Given the description of an element on the screen output the (x, y) to click on. 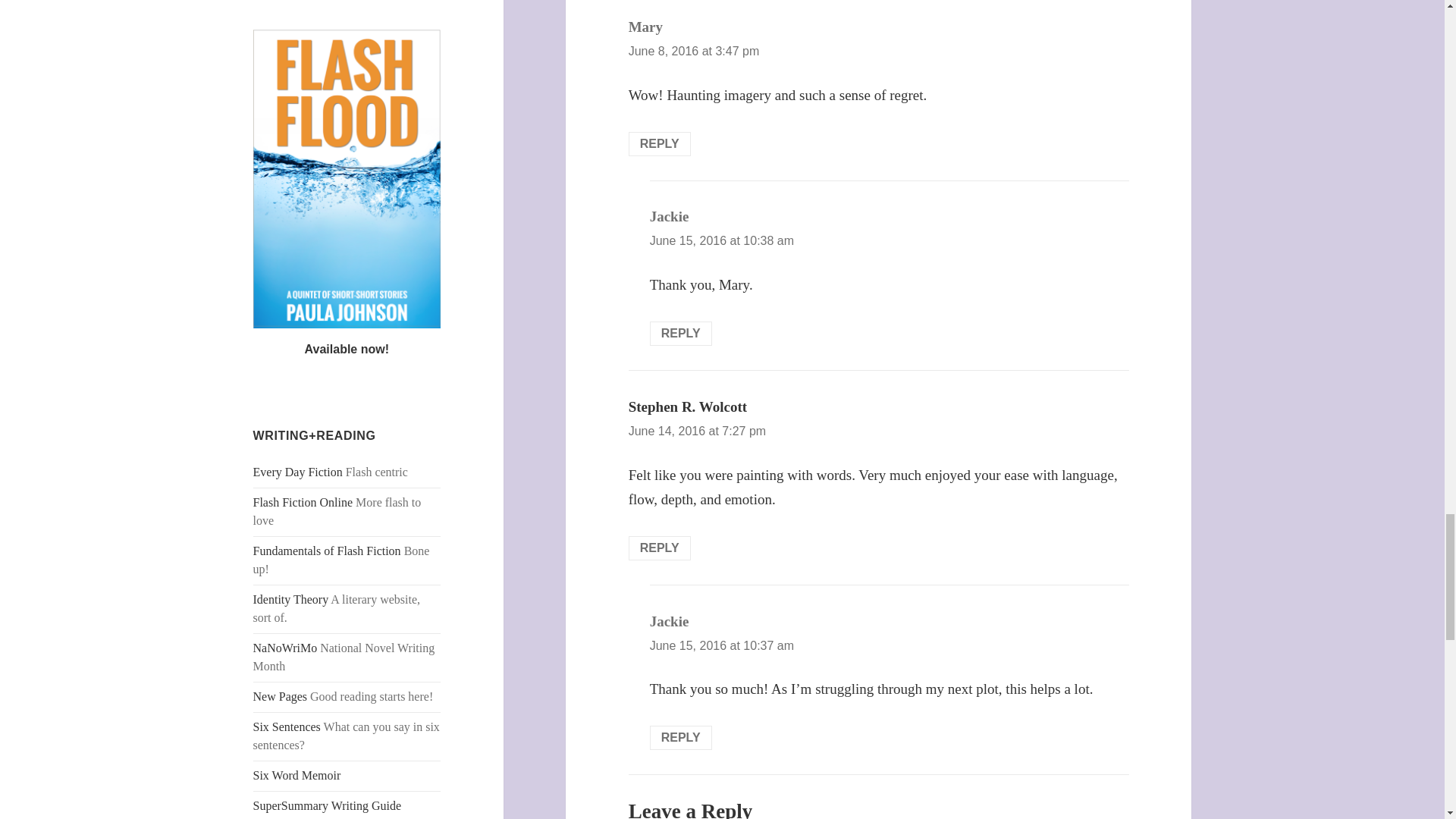
Resources for fiction writers at all levels (327, 805)
A literary website, sort of. (291, 599)
Bone up!  (327, 550)
What can you say in six sentences?  (286, 726)
National Novel Writing Month (285, 647)
Good reading starts here!  (280, 696)
More flash to love (303, 502)
Flash centric (297, 472)
